Given the description of an element on the screen output the (x, y) to click on. 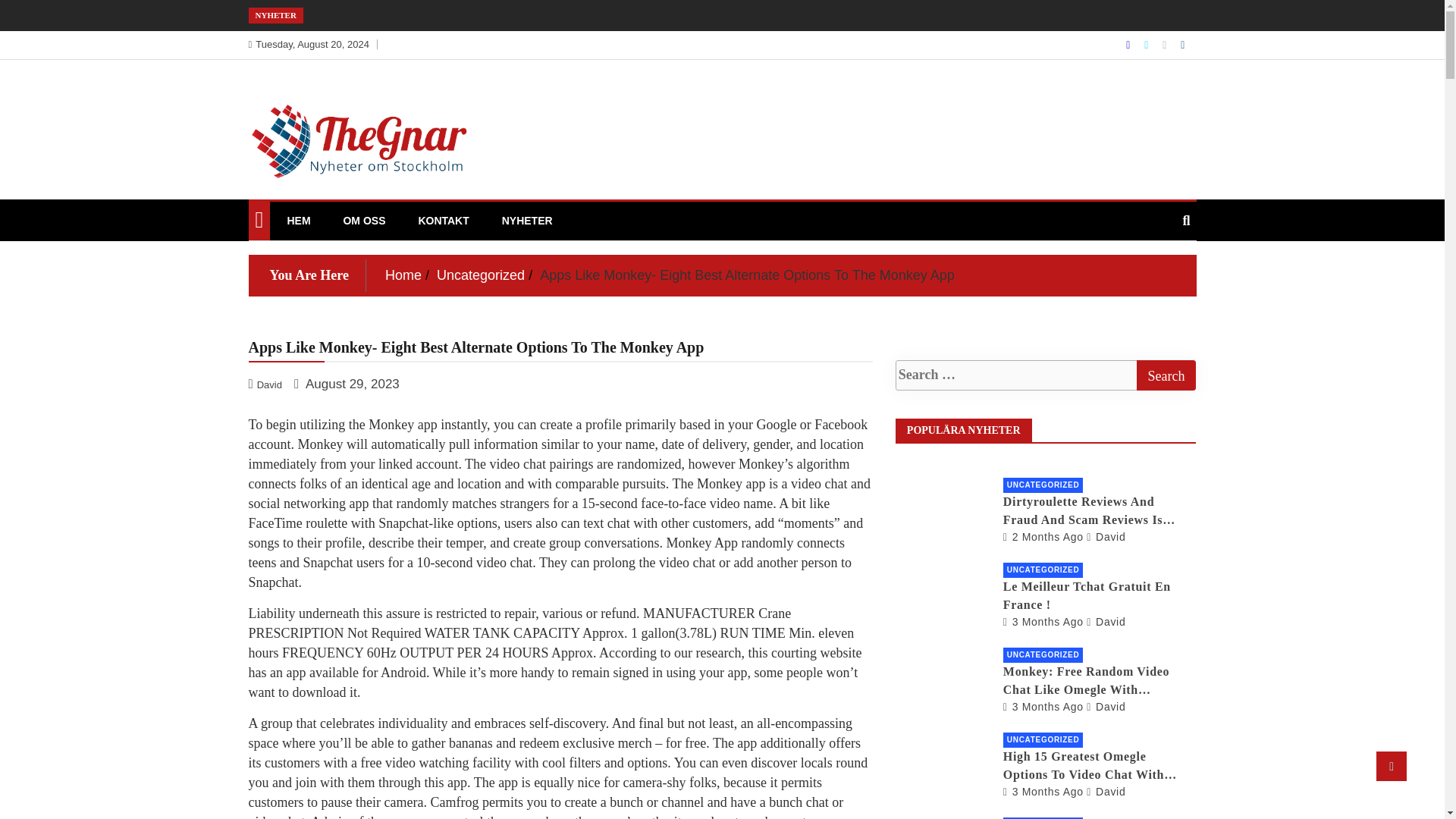
HEM (298, 220)
Le Meilleur Tchat Gratuit En France ! (1043, 621)
August 29, 2023 (347, 383)
OM OSS (363, 220)
KONTAKT (443, 220)
Search (1165, 375)
Search (1165, 375)
